Given the description of an element on the screen output the (x, y) to click on. 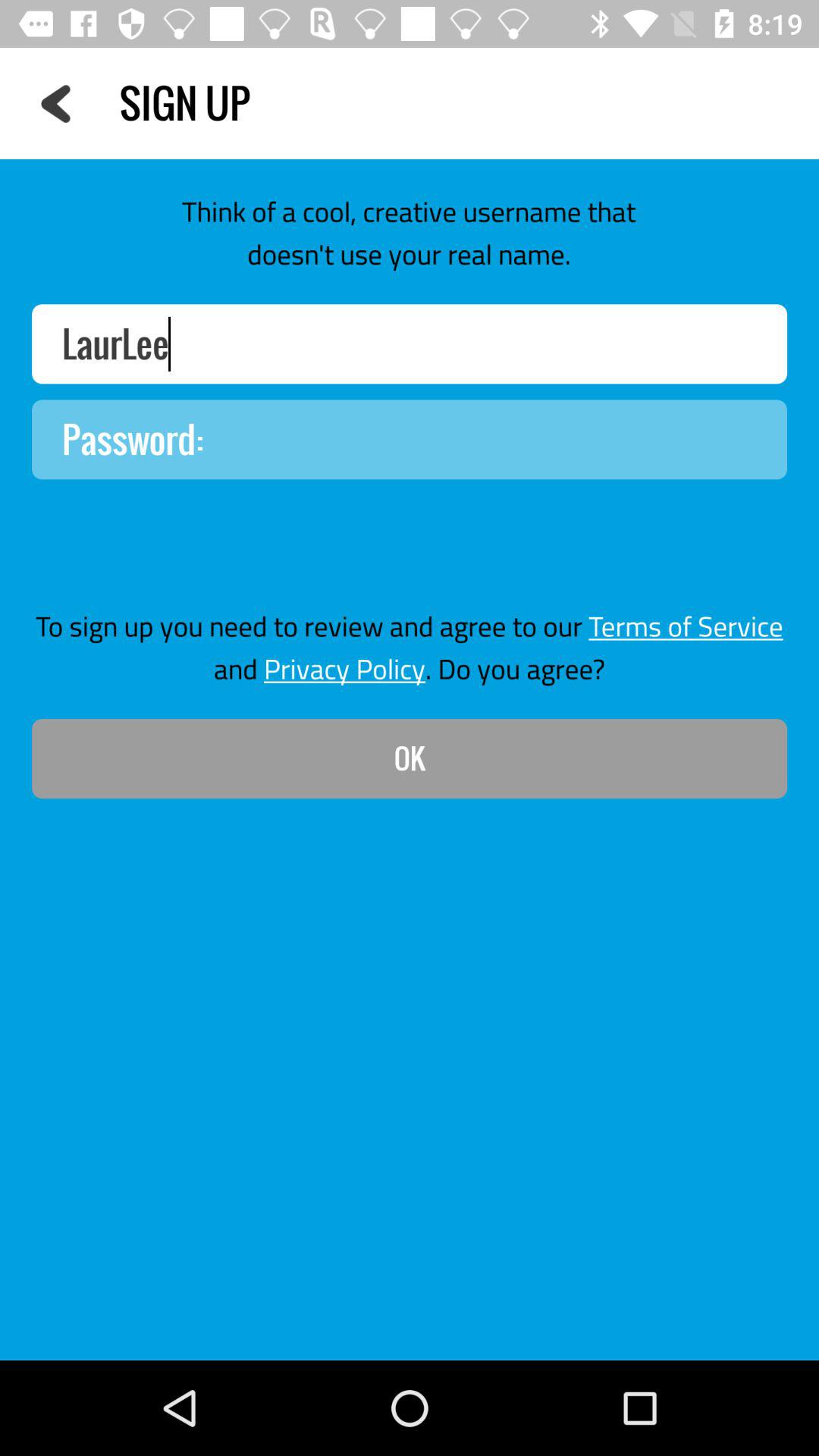
area to input password (409, 439)
